Given the description of an element on the screen output the (x, y) to click on. 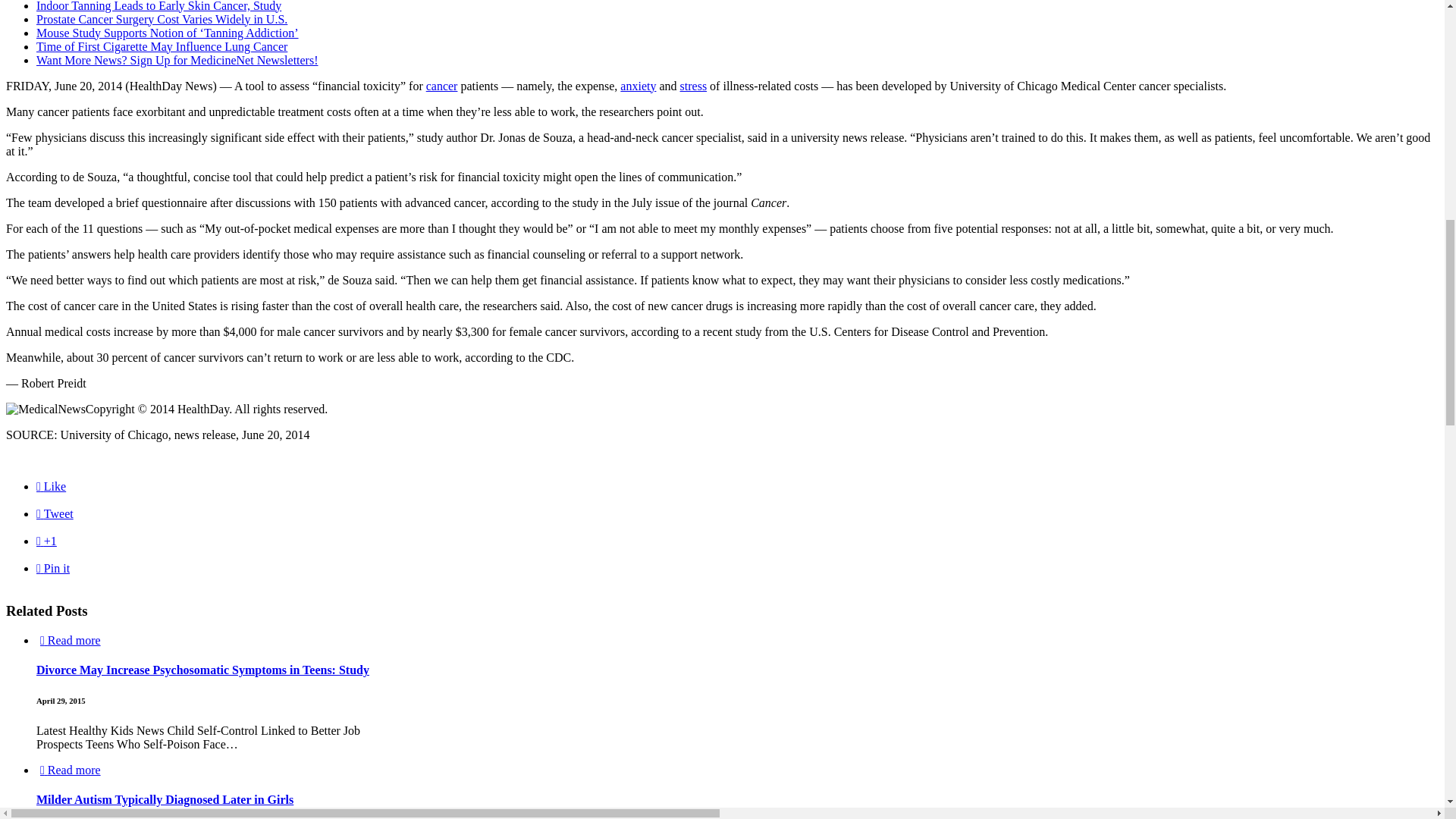
Share on Pinterest (52, 567)
Share on Facebook (50, 486)
Share on Google Plus (46, 540)
Divorce May Increase Psychosomatic Symptoms in Teens: Study (202, 669)
Indoor Tanning Leads to Early Skin Cancer, Study (158, 6)
Time of First Cigarette May Influence Lung Cancer (161, 46)
Share on Twitter (55, 513)
Milder Autism Typically Diagnosed Later in Girls (165, 799)
Prostate Cancer Surgery Cost Varies Widely in U.S. (161, 19)
